Given the description of an element on the screen output the (x, y) to click on. 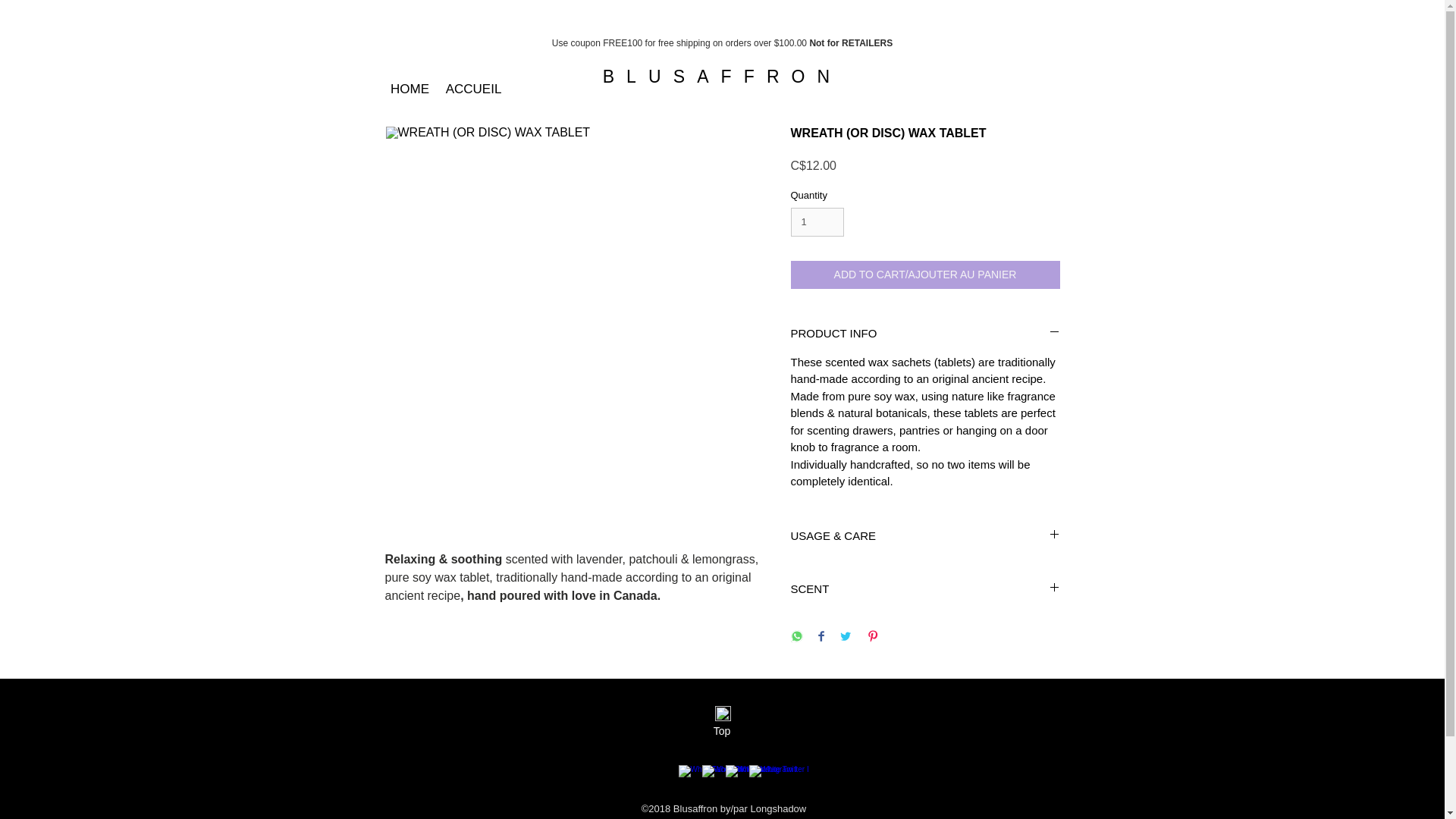
Top (721, 731)
PRODUCT INFO (924, 333)
SCENT (924, 588)
HOME (408, 88)
1 (817, 222)
ACCUEIL (472, 88)
